Given the description of an element on the screen output the (x, y) to click on. 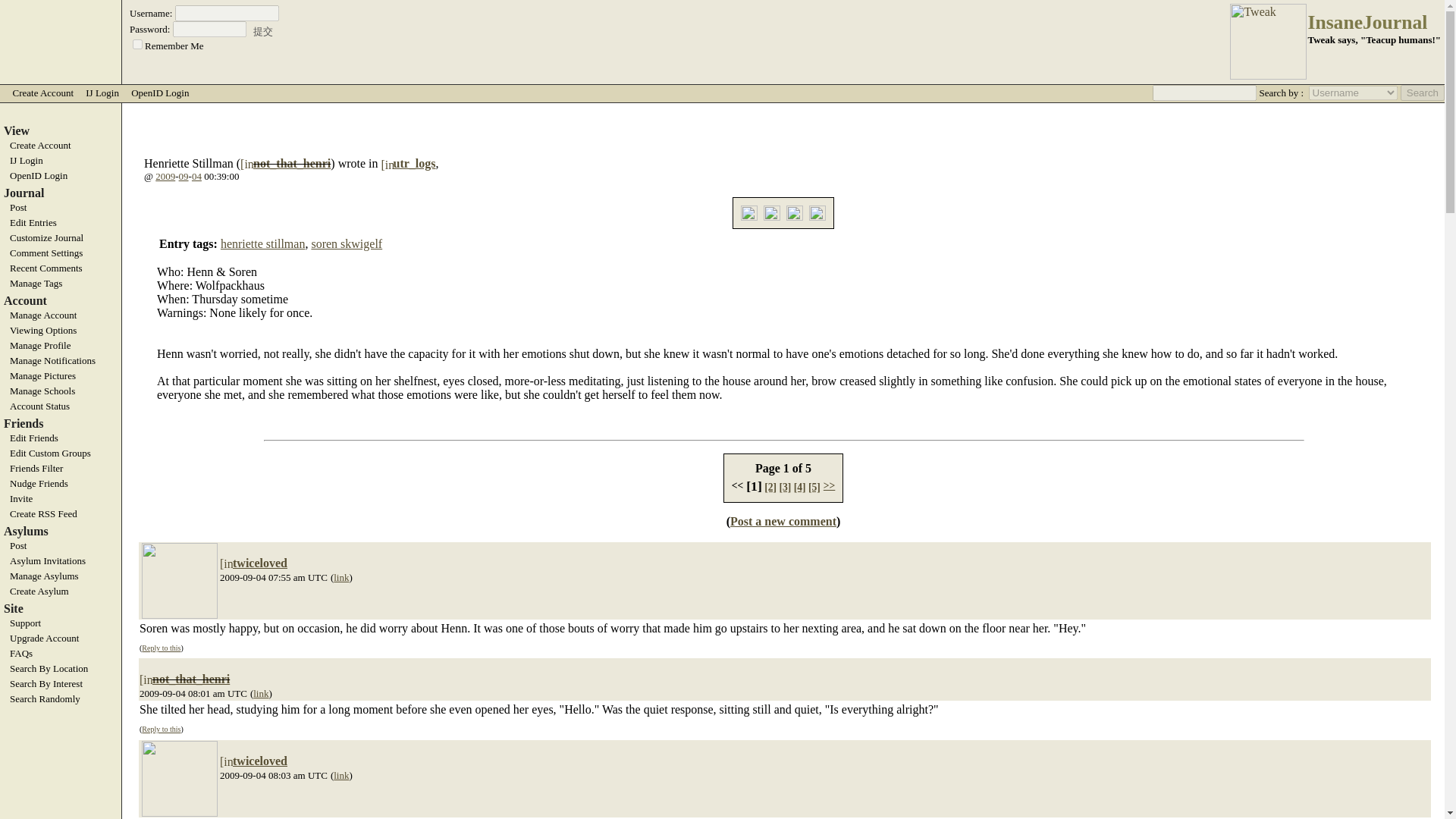
Tell a Friend! (794, 212)
Customize Journal (60, 237)
FAQs (60, 653)
Create RSS Feed (60, 513)
Recent Comments (60, 268)
Account Status (60, 406)
Manage Notifications (60, 360)
Create Account (42, 93)
Search By Interest (60, 684)
Support (60, 623)
